Given the description of an element on the screen output the (x, y) to click on. 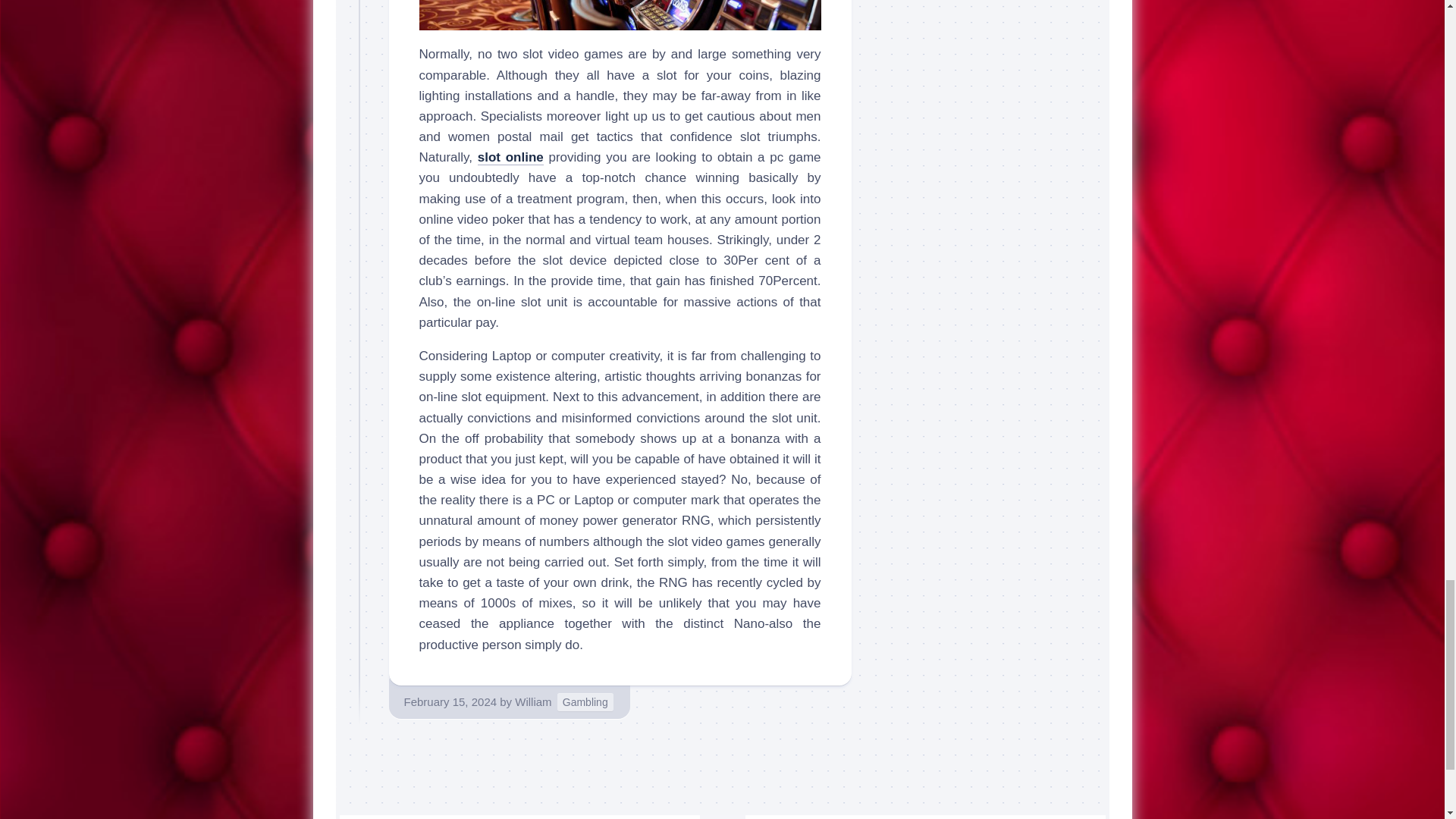
slot online (510, 156)
Gambling (584, 701)
William (533, 701)
Posts by William (533, 701)
